Given the description of an element on the screen output the (x, y) to click on. 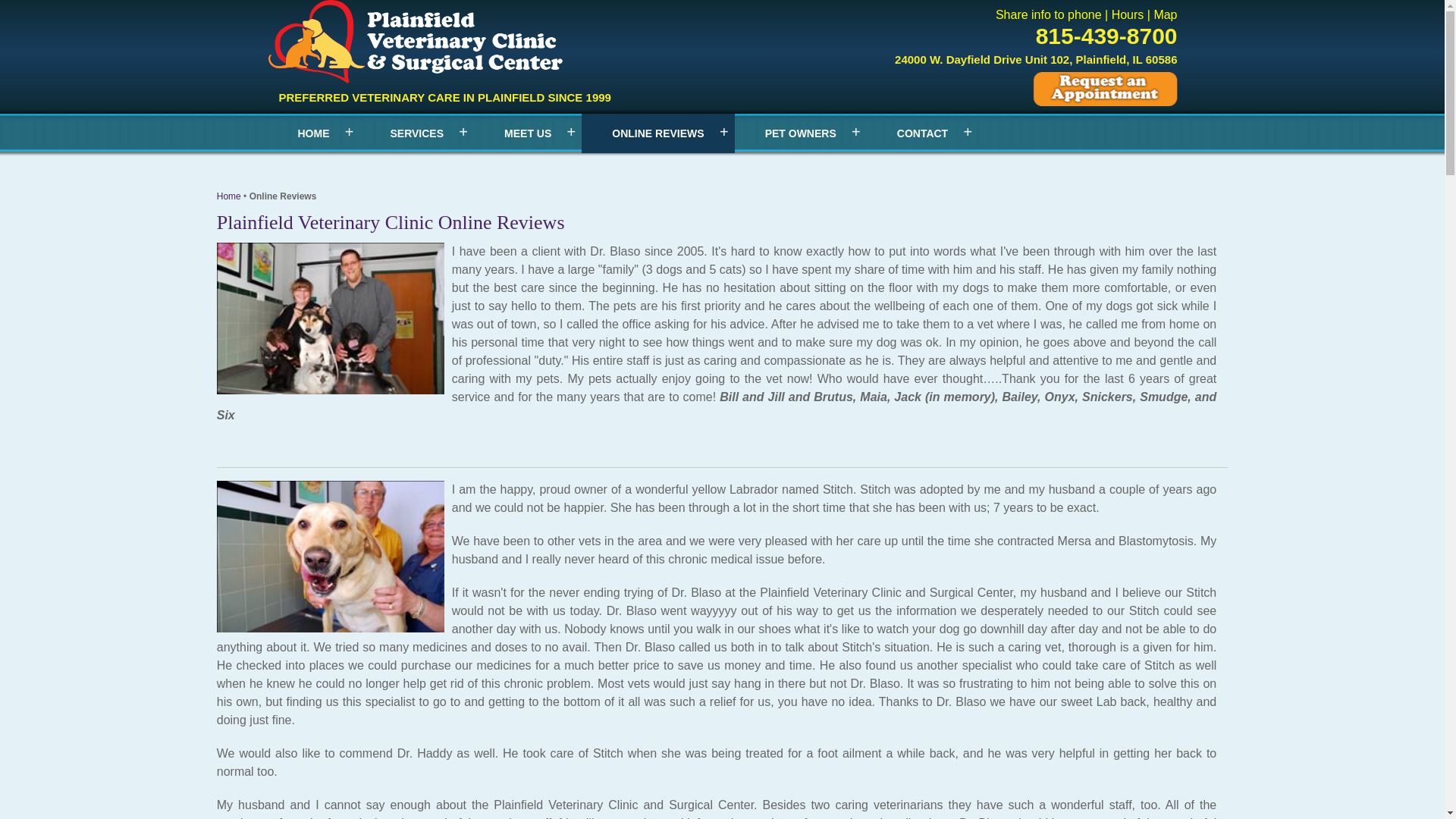
Share info to phone (1048, 14)
PET OWNERS (800, 133)
Map (1164, 14)
CONTACT (922, 133)
Online Reviews at Plainfield Veterinary Clinic (228, 195)
Hours (1128, 14)
MEET US (527, 133)
ONLINE REVIEWS (656, 133)
Home (228, 195)
Online Reviews for Plainfield Veterinary Clinic (416, 41)
